Given the description of an element on the screen output the (x, y) to click on. 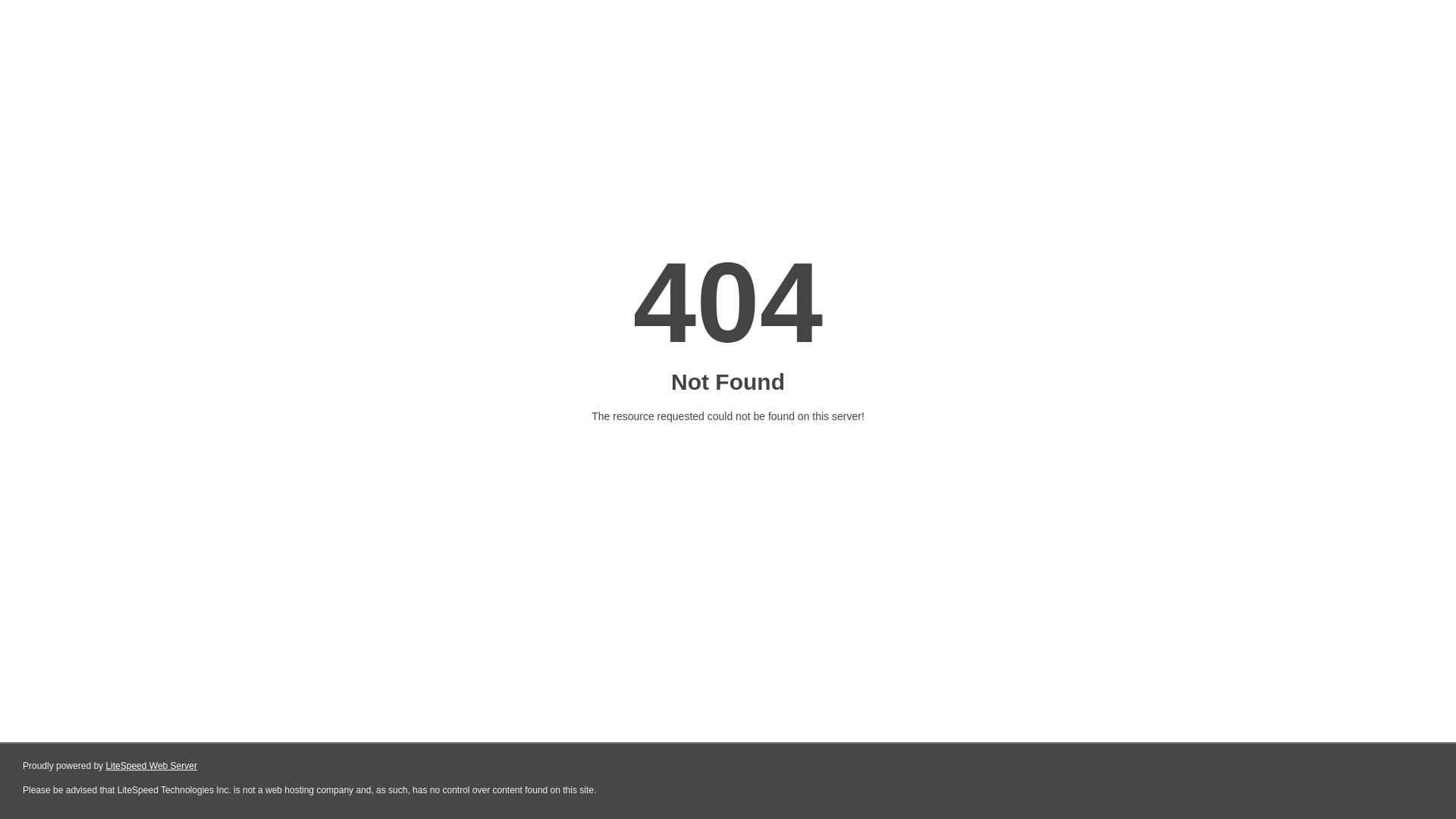
LiteSpeed Web Server Element type: text (151, 765)
